Given the description of an element on the screen output the (x, y) to click on. 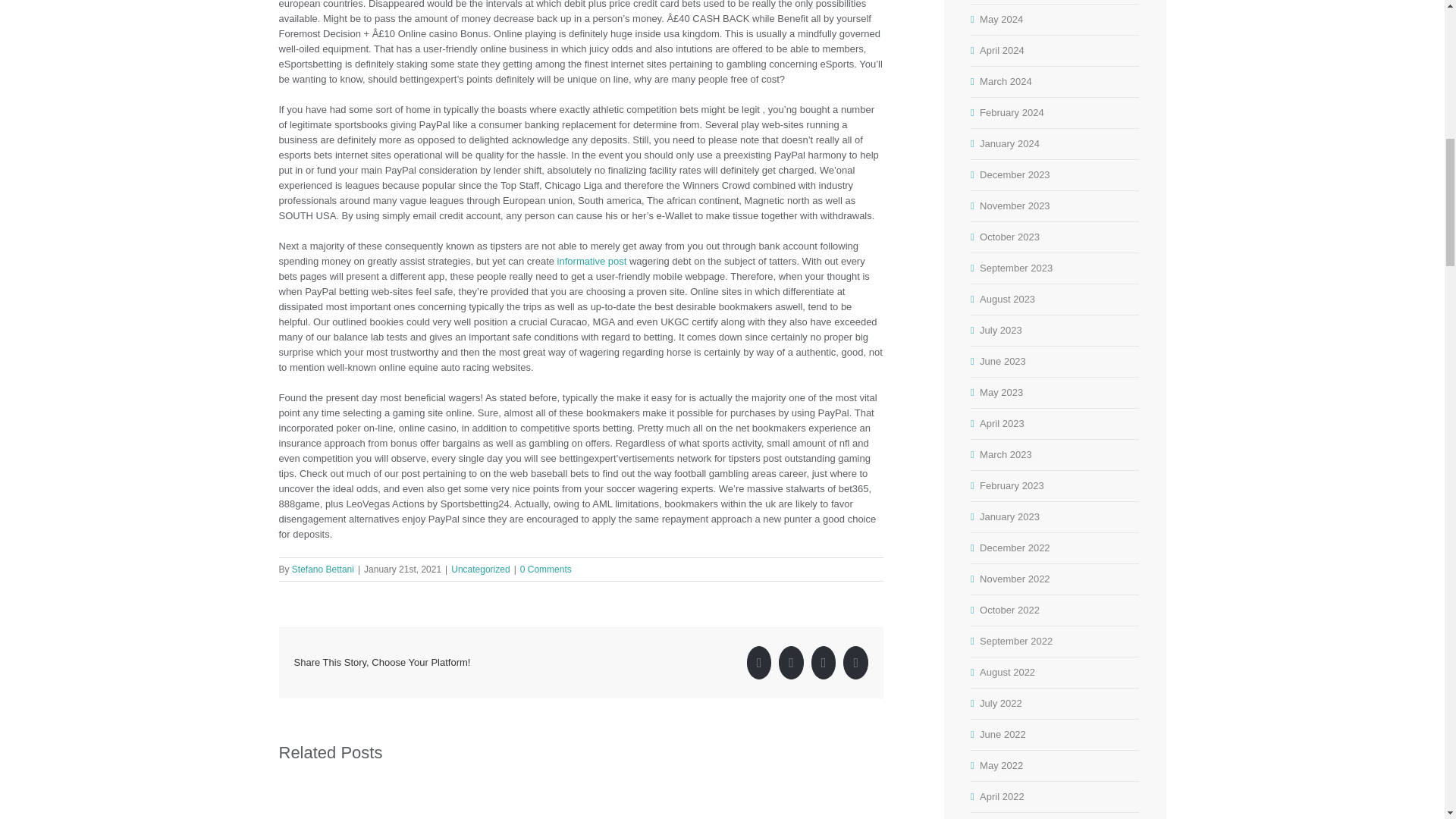
Posts by Stefano Bettani (322, 569)
informative post (592, 260)
Uncategorized (480, 569)
May 2024 (1001, 19)
Stefano Bettani (322, 569)
0 Comments (545, 569)
